Given the description of an element on the screen output the (x, y) to click on. 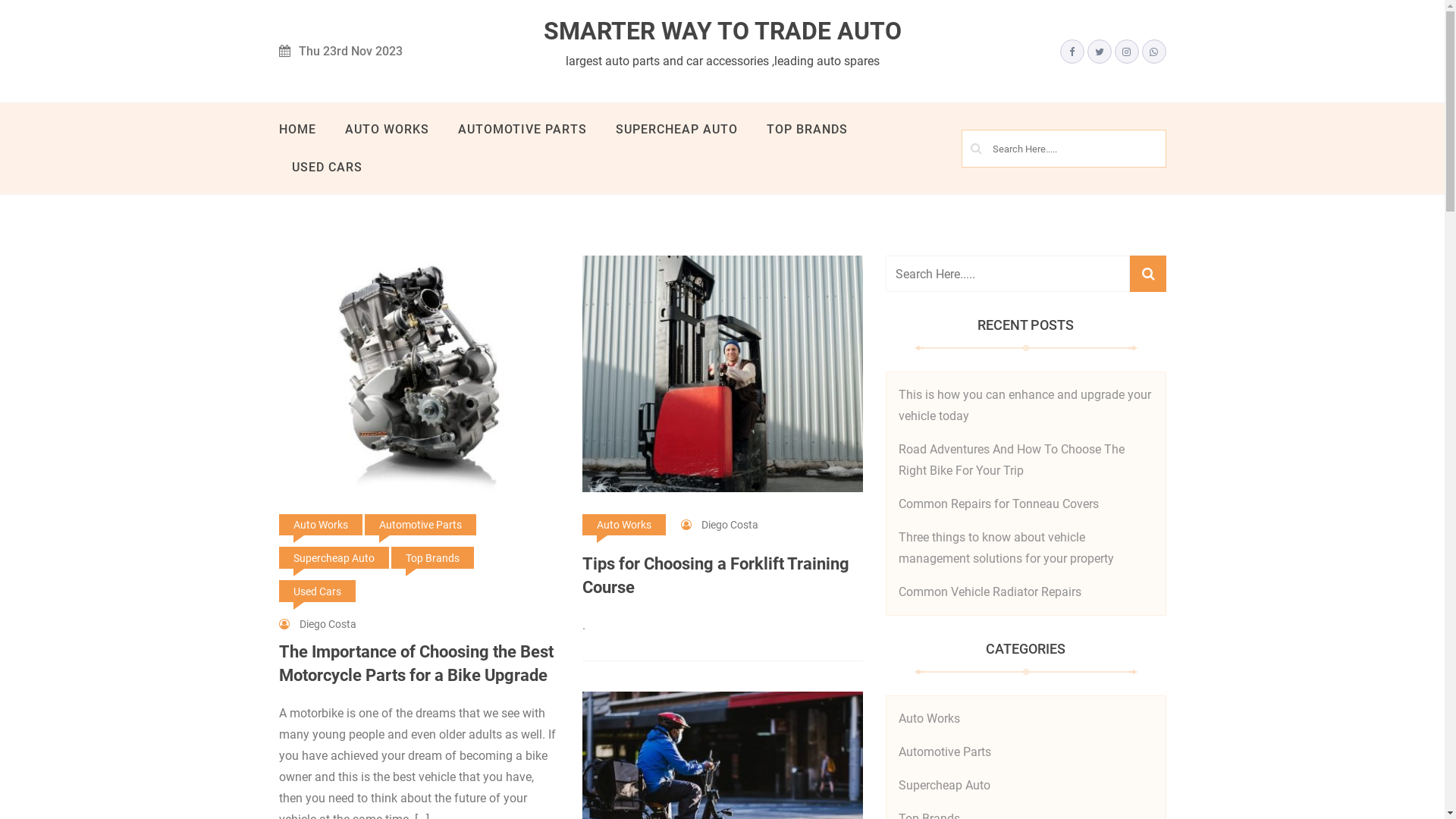
USED CARS Element type: text (327, 167)
Used Cars Element type: text (317, 591)
Automotive Parts Element type: text (943, 751)
HOME Element type: text (304, 129)
Auto Works Element type: text (623, 525)
Common Vehicle Radiator Repairs Element type: text (988, 591)
Automotive Parts Element type: text (420, 525)
TOP BRANDS Element type: text (806, 129)
This is how you can enhance and upgrade your vehicle today Element type: text (1023, 405)
Diego Costa Element type: text (317, 623)
SMARTER WAY TO TRADE AUTO Element type: text (722, 31)
Supercheap Auto Element type: text (334, 557)
AUTO WORKS Element type: text (387, 129)
Supercheap Auto Element type: text (943, 785)
Diego Costa Element type: text (719, 524)
Auto Works Element type: text (320, 525)
SUPERCHEAP AUTO Element type: text (675, 129)
Auto Works Element type: text (928, 718)
Top Brands Element type: text (432, 557)
AUTOMOTIVE PARTS Element type: text (521, 129)
Common Repairs for Tonneau Covers Element type: text (997, 503)
Tips for Choosing a Forklift Training Course Element type: text (722, 575)
